Given the description of an element on the screen output the (x, y) to click on. 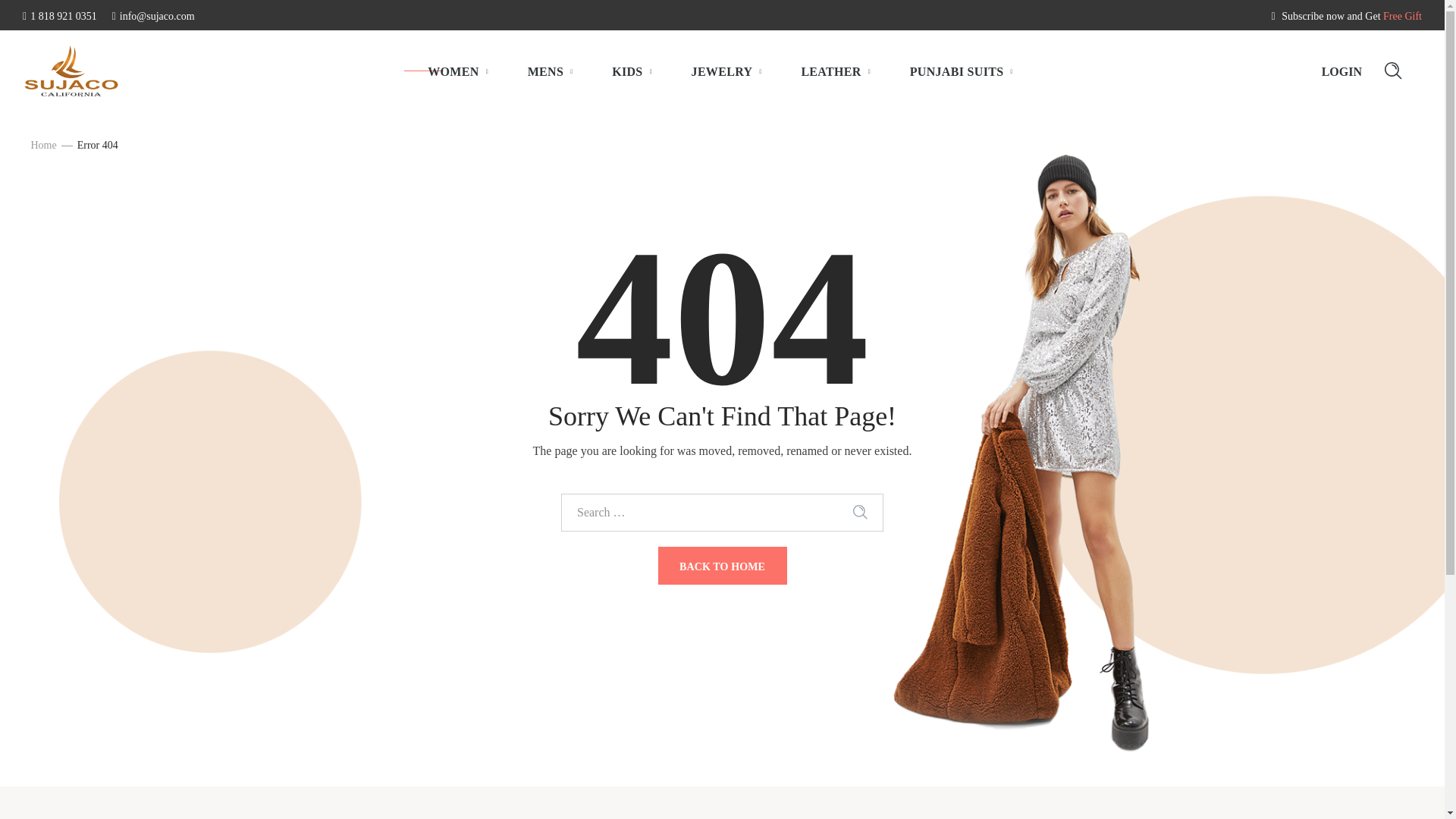
MENS (551, 71)
KIDS (631, 71)
WOMEN (458, 71)
1 818 921 0351 (60, 16)
JEWELRY (727, 71)
